Given the description of an element on the screen output the (x, y) to click on. 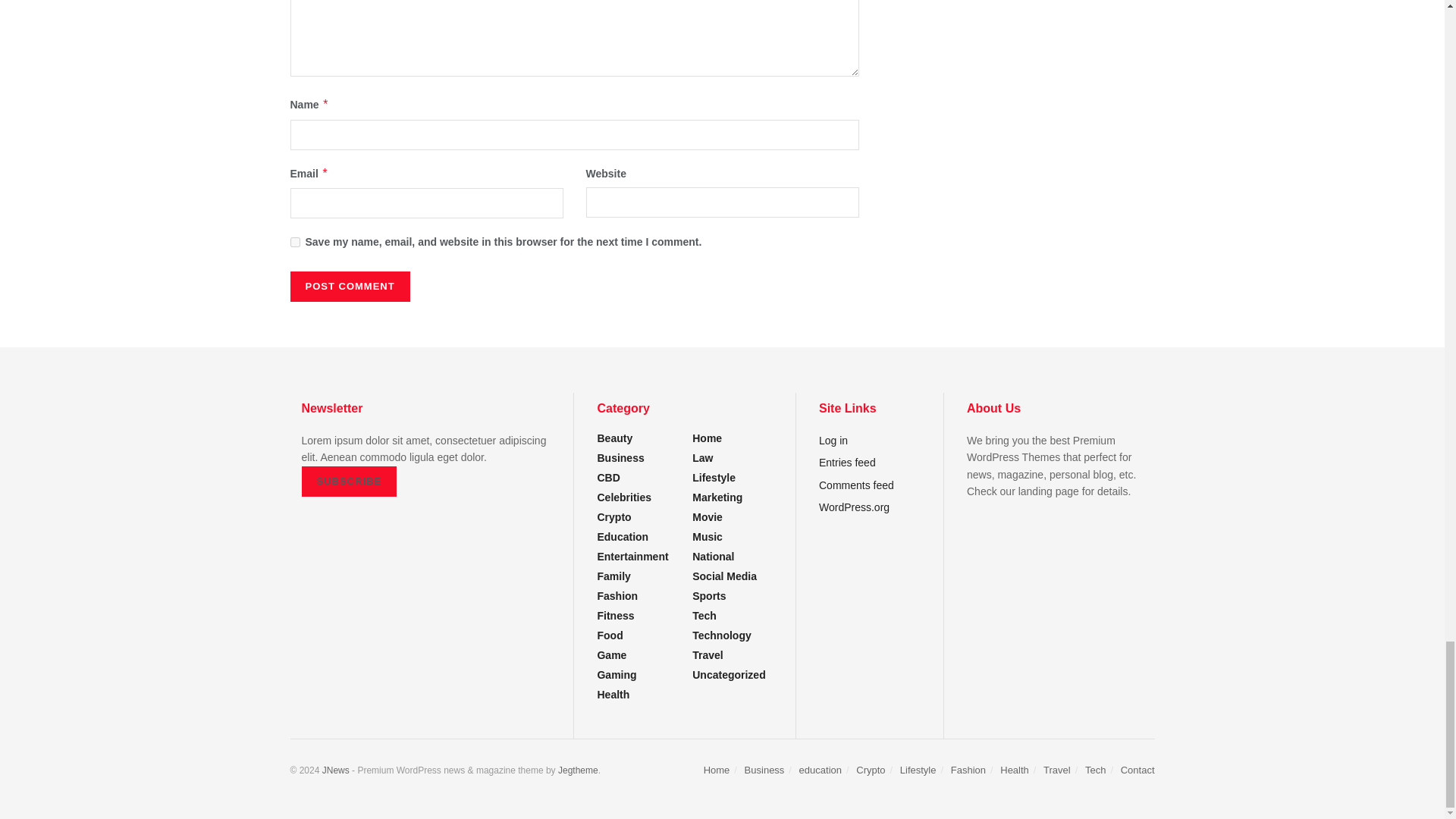
yes (294, 242)
Post Comment (349, 286)
Jegtheme (577, 769)
